Given the description of an element on the screen output the (x, y) to click on. 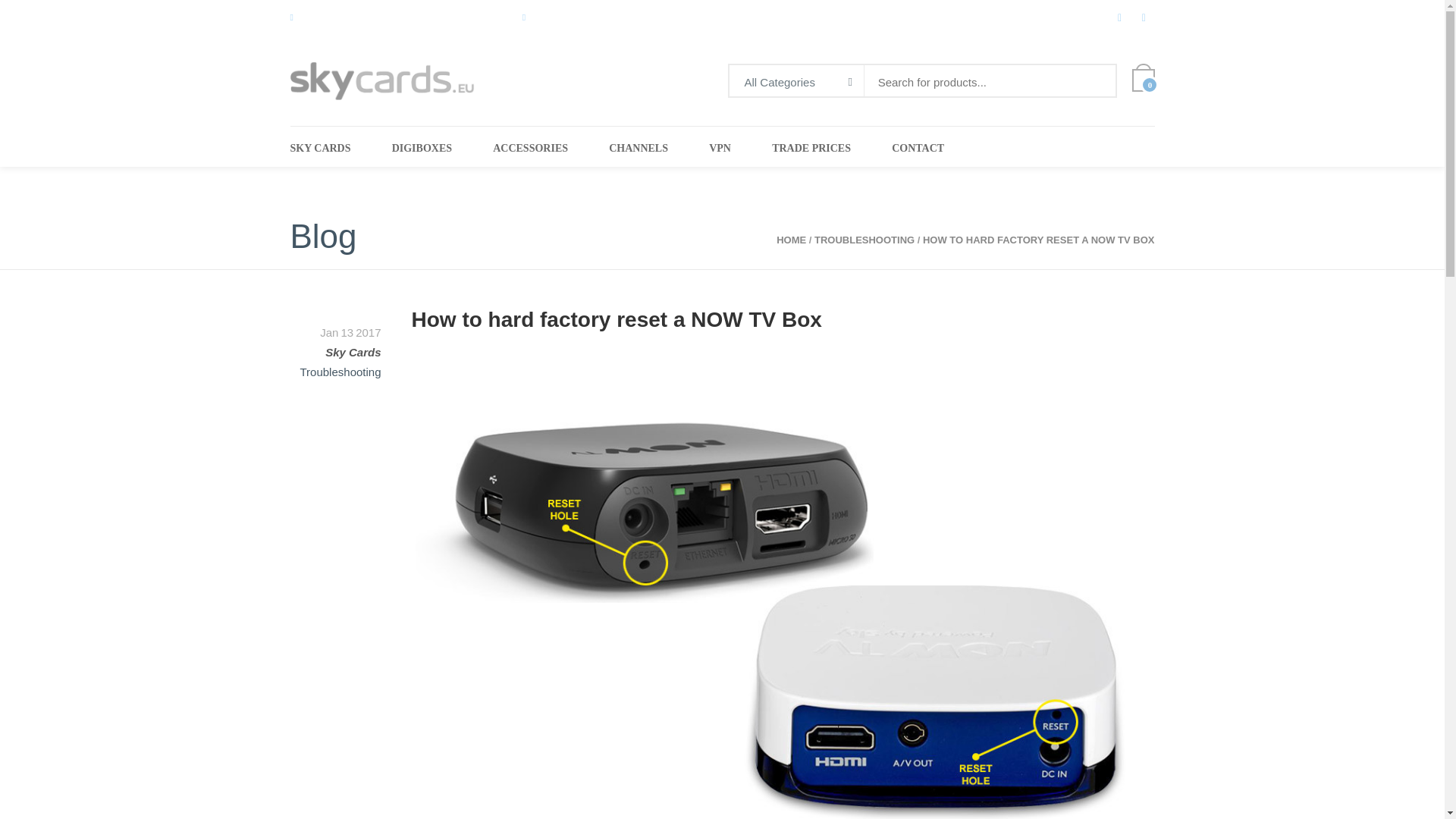
Troubleshooting (339, 371)
TROUBLESHOOTING (863, 239)
HOW TO HARD FACTORY RESET A NOW TV BOX (1038, 239)
Search (1098, 82)
CHANNELS (638, 153)
How to hard factory reset a NOW TV Box (615, 319)
Sky Cards (352, 351)
TRADE PRICES (810, 153)
0 (1147, 17)
View Compare (1124, 17)
View your shopping cart (1142, 79)
View Wishlist (1147, 17)
CONTACT (917, 153)
0 (1142, 79)
0 (1124, 17)
